Given the description of an element on the screen output the (x, y) to click on. 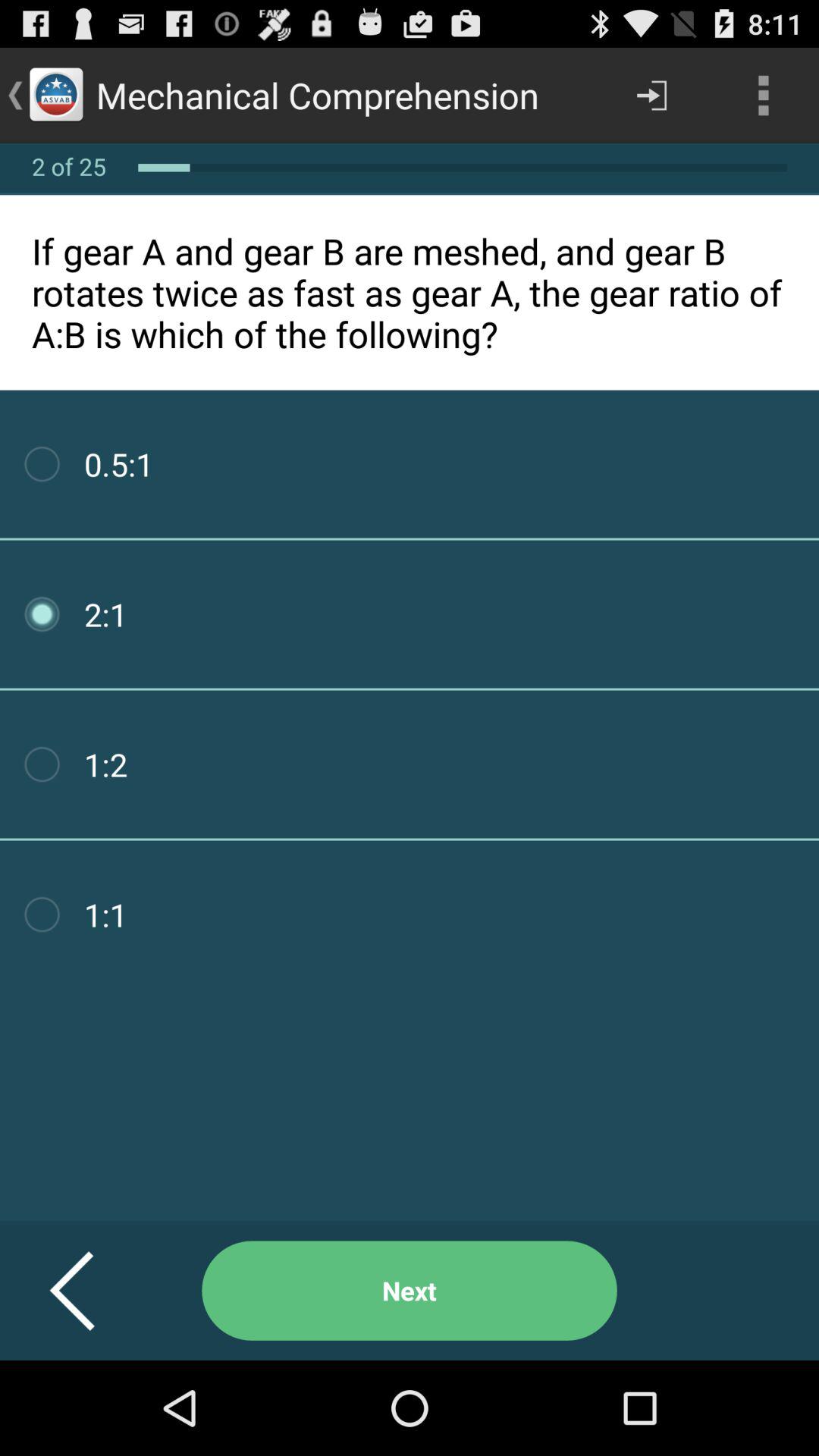
click item below if gear a icon (409, 1290)
